Given the description of an element on the screen output the (x, y) to click on. 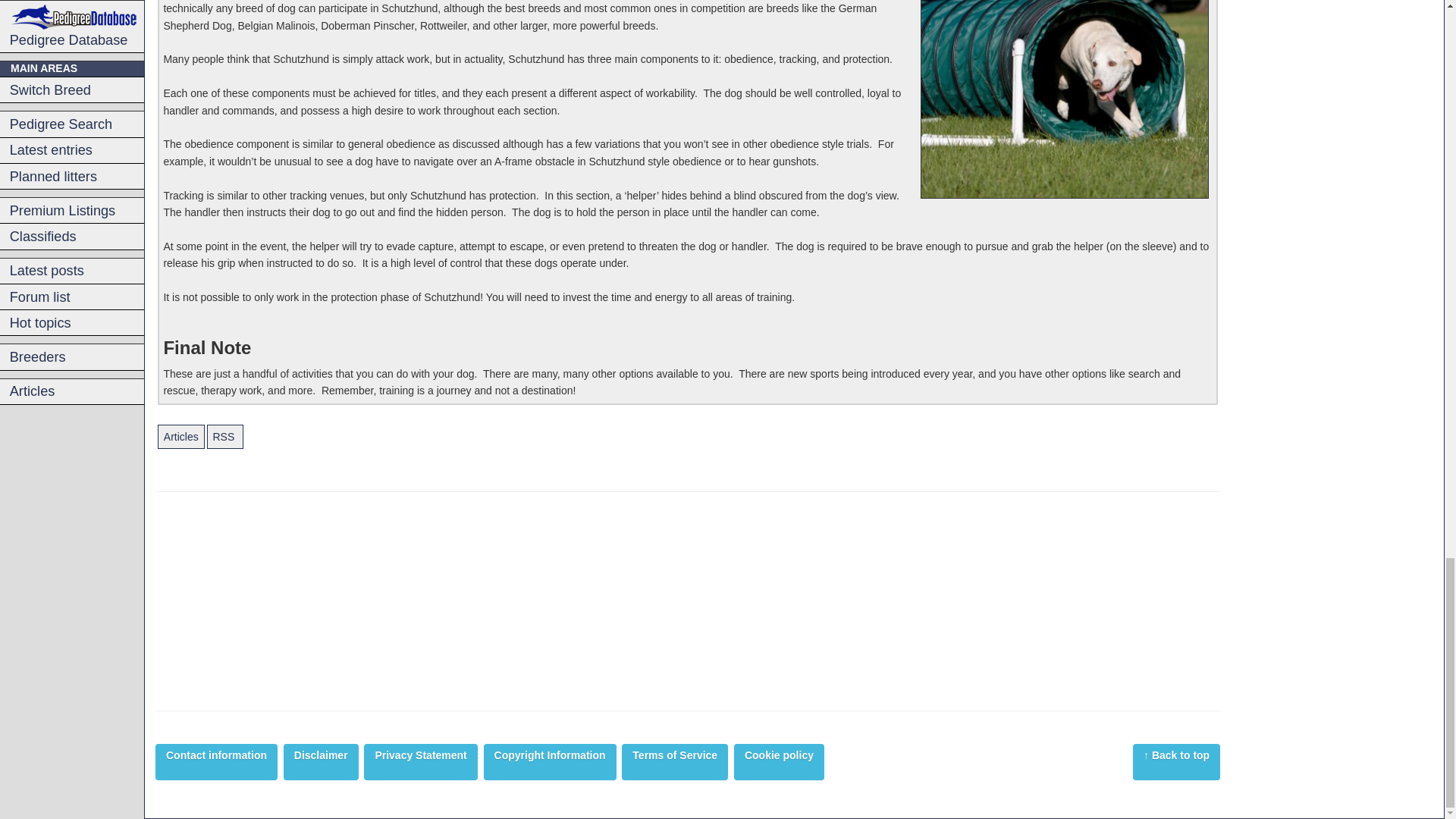
Disclaimer (320, 761)
Contact information (216, 761)
Copyright Information (549, 761)
RSS  (225, 436)
Articles (180, 436)
Terms of Service (674, 761)
Cookie policy (778, 761)
Privacy Statement (420, 761)
